Given the description of an element on the screen output the (x, y) to click on. 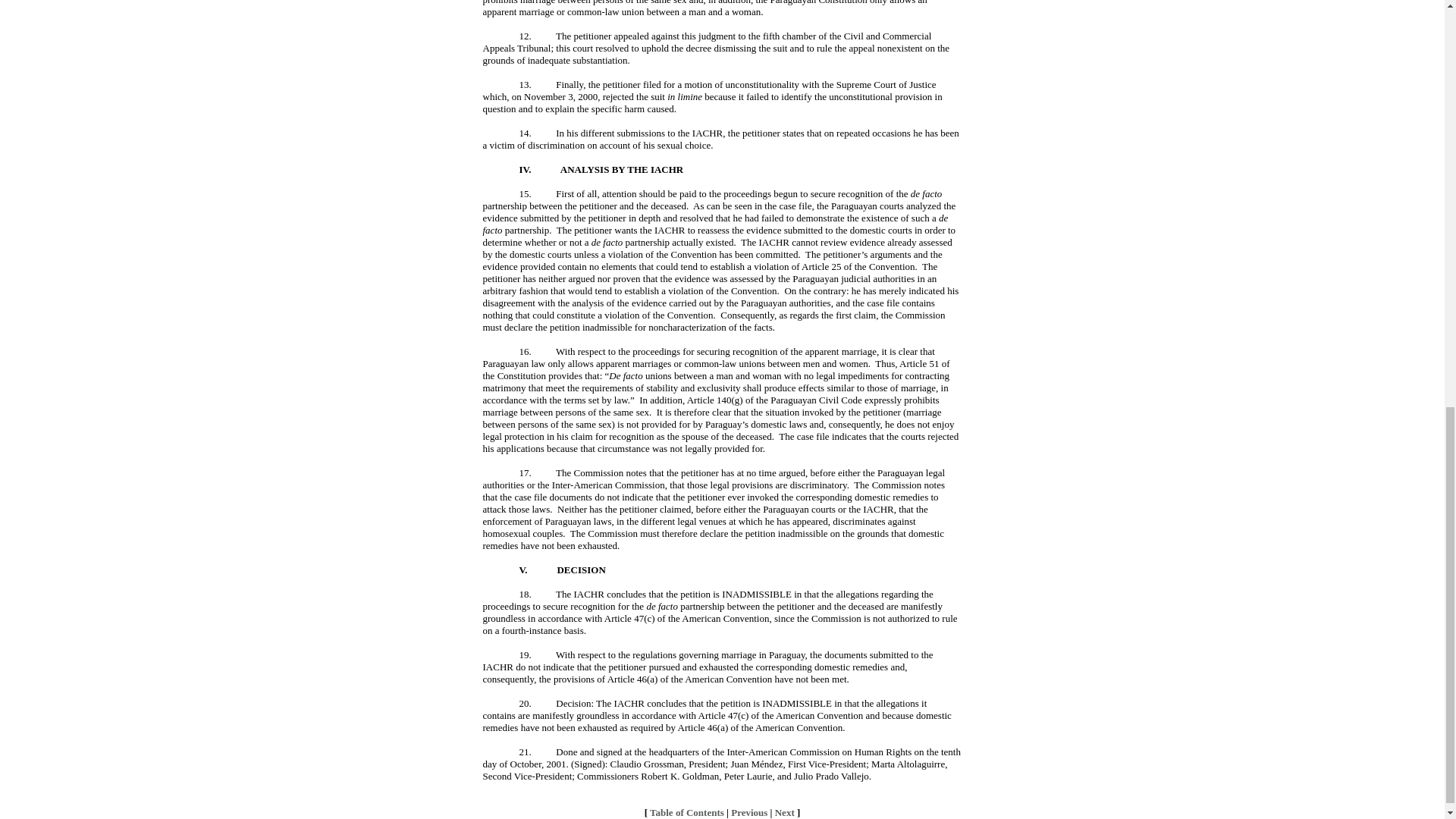
Previous (748, 812)
Next (784, 812)
Table of Contents (686, 812)
